Given the description of an element on the screen output the (x, y) to click on. 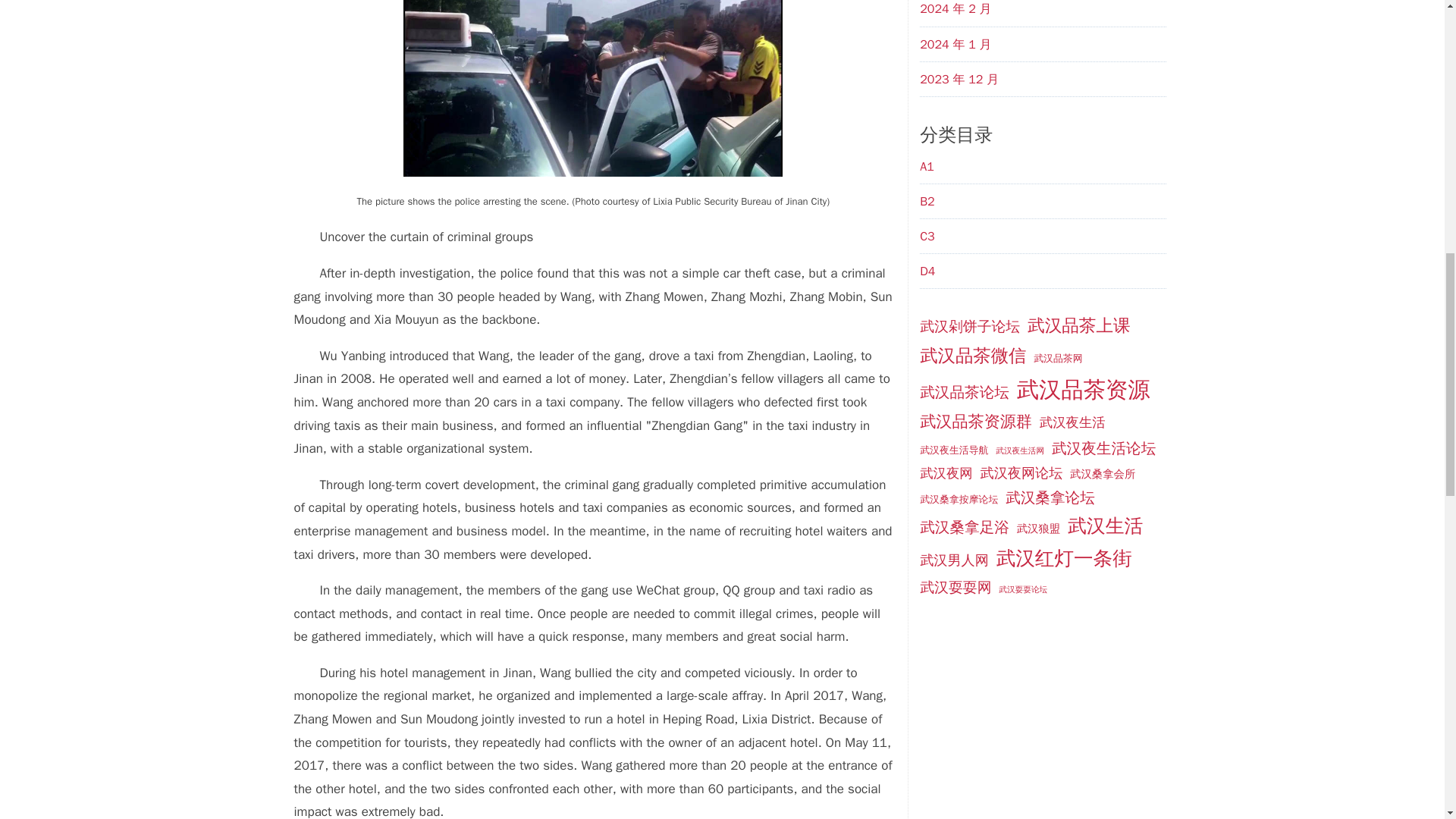
D4 (927, 271)
B2 (927, 201)
C3 (927, 236)
A1 (927, 166)
